Given the description of an element on the screen output the (x, y) to click on. 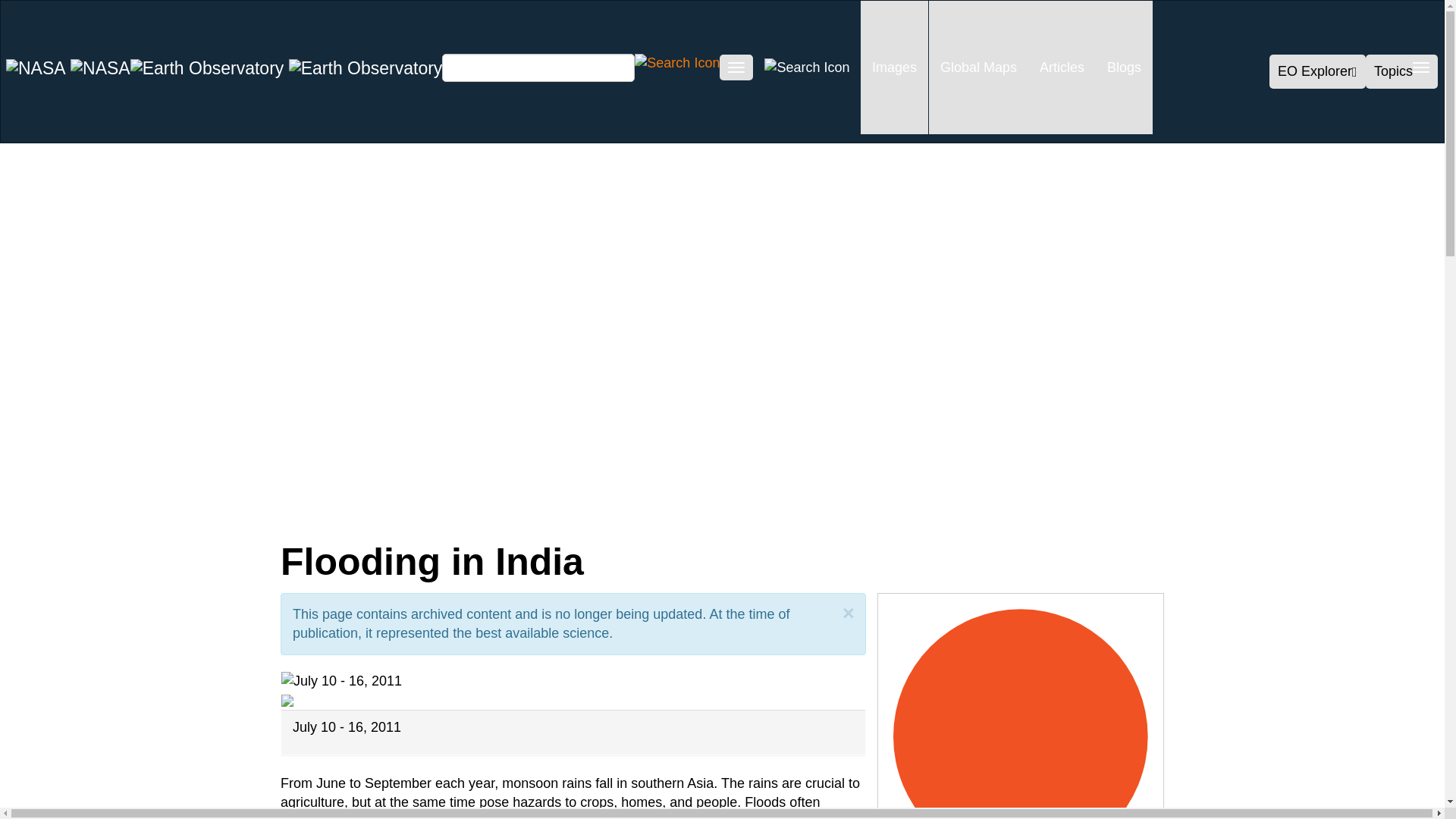
Print (510, 512)
Search (676, 61)
Share (161, 512)
